Given the description of an element on the screen output the (x, y) to click on. 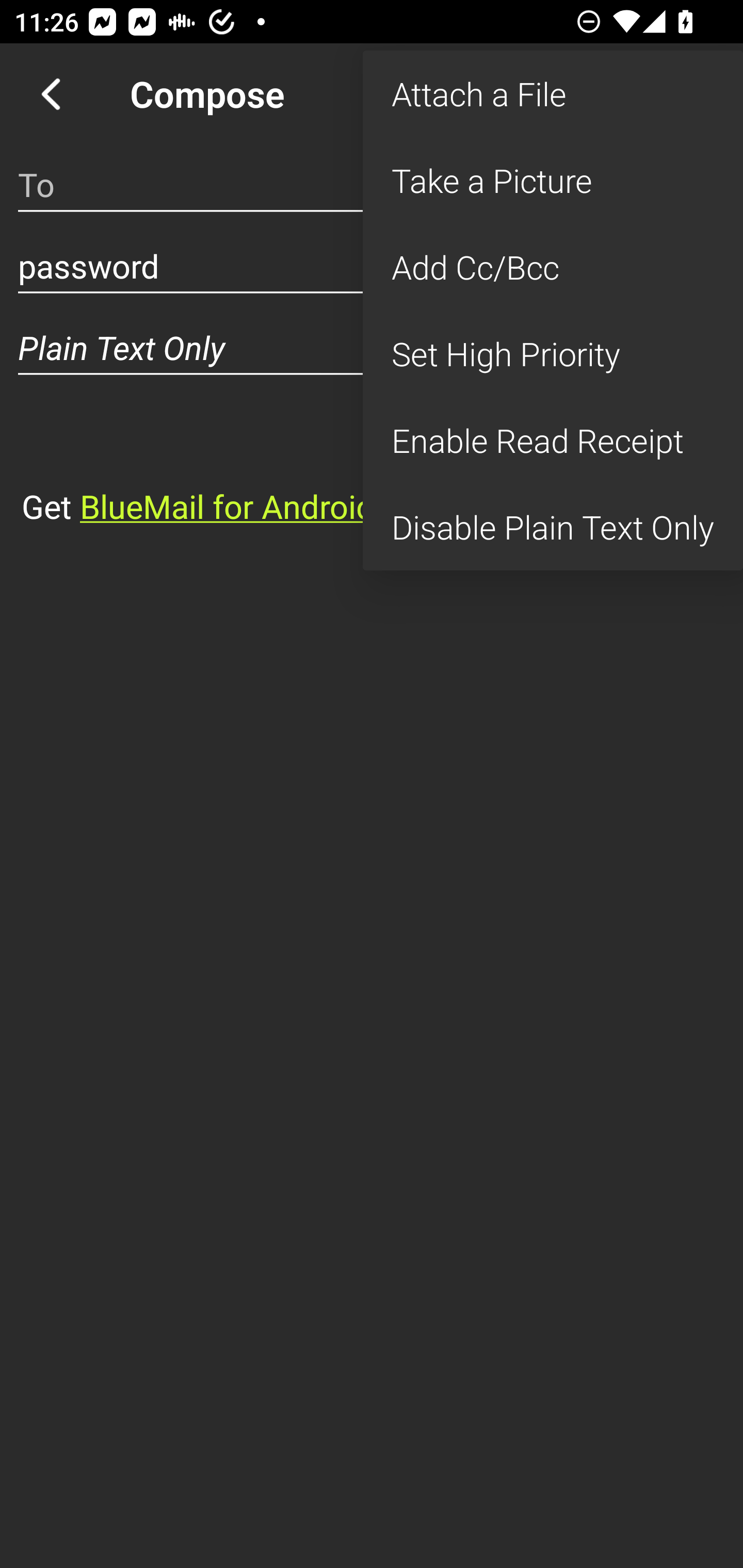
Attach a File (552, 93)
Take a Picture (552, 180)
Add Cc/Bcc (552, 267)
Set High Priority (552, 353)
Enable Read Receipt (552, 440)
Disable Plain Text Only (552, 527)
